Given the description of an element on the screen output the (x, y) to click on. 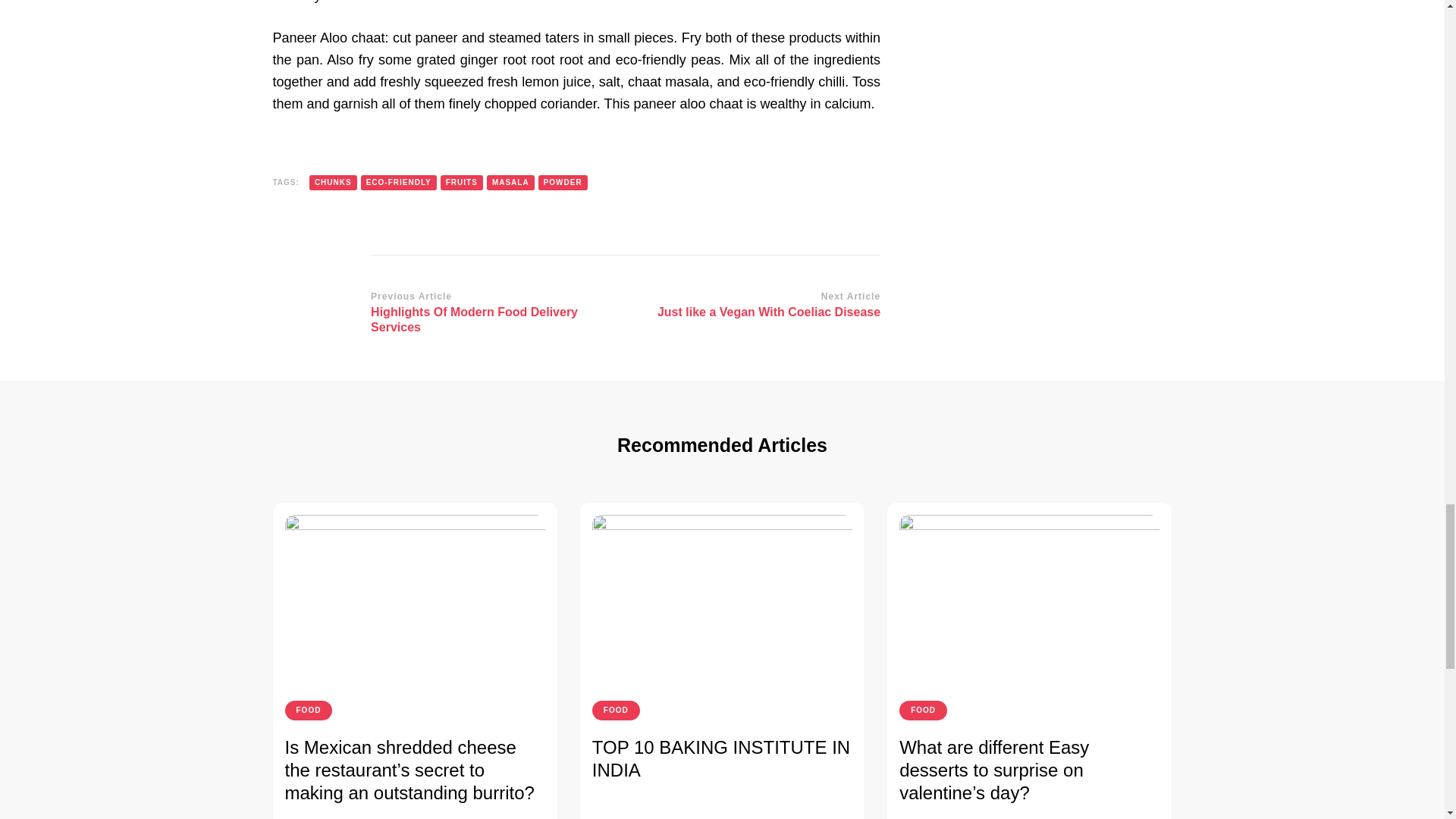
POWDER (563, 182)
CHUNKS (332, 182)
FRUITS (462, 182)
MASALA (758, 305)
ECO-FRIENDLY (510, 182)
